Given the description of an element on the screen output the (x, y) to click on. 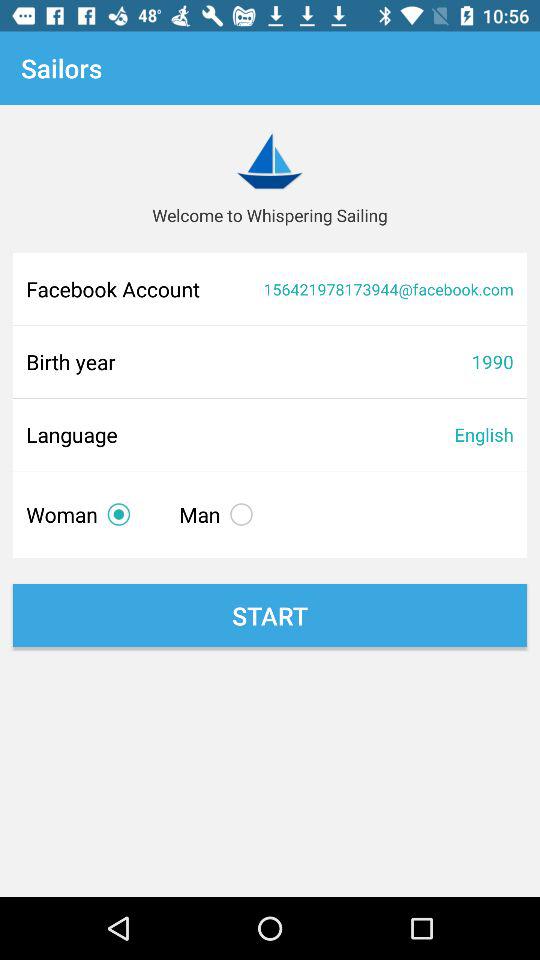
swipe until the woman (82, 514)
